Given the description of an element on the screen output the (x, y) to click on. 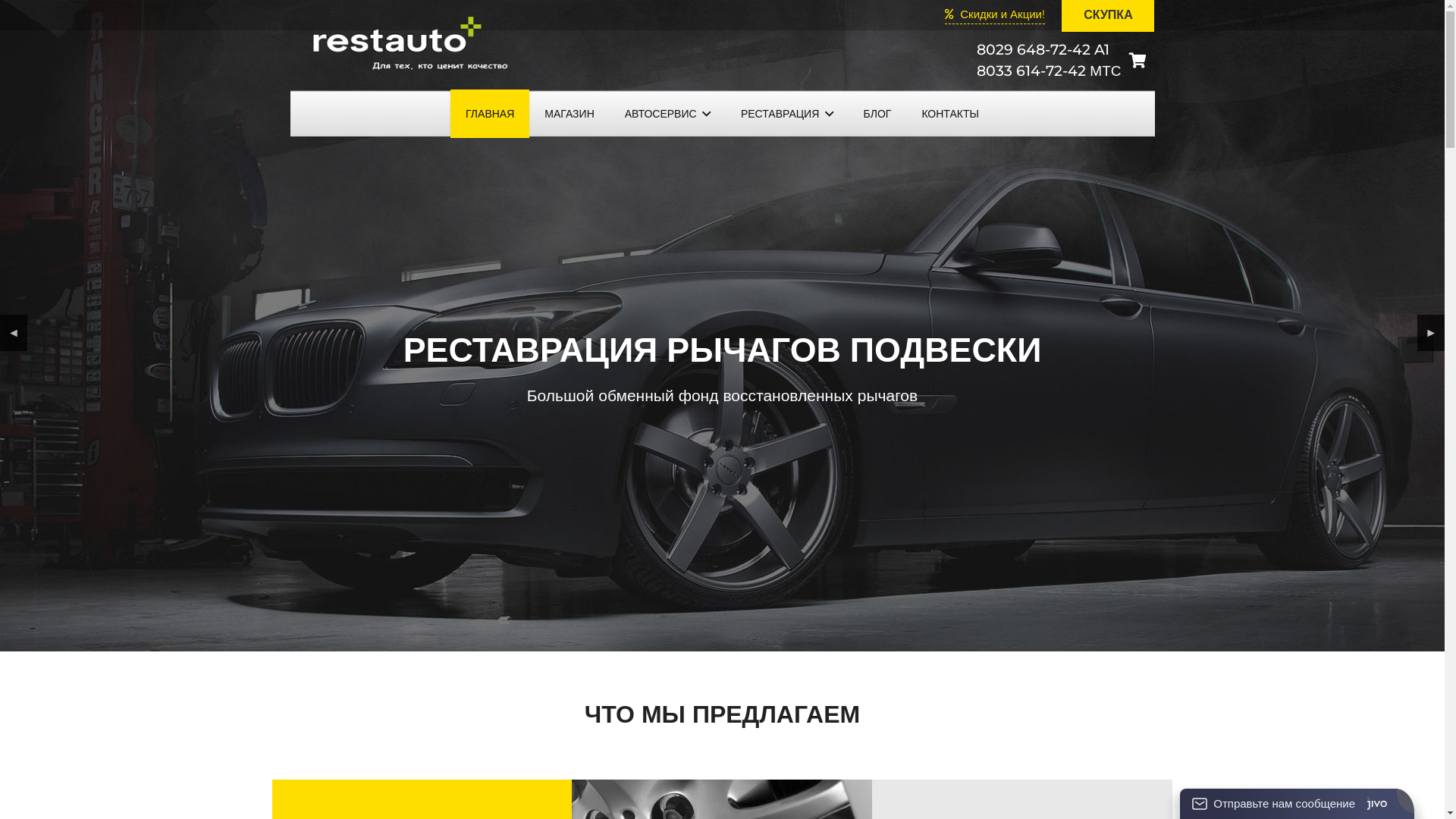
0 Element type: text (1137, 60)
slide1 Element type: hover (722, 325)
